Given the description of an element on the screen output the (x, y) to click on. 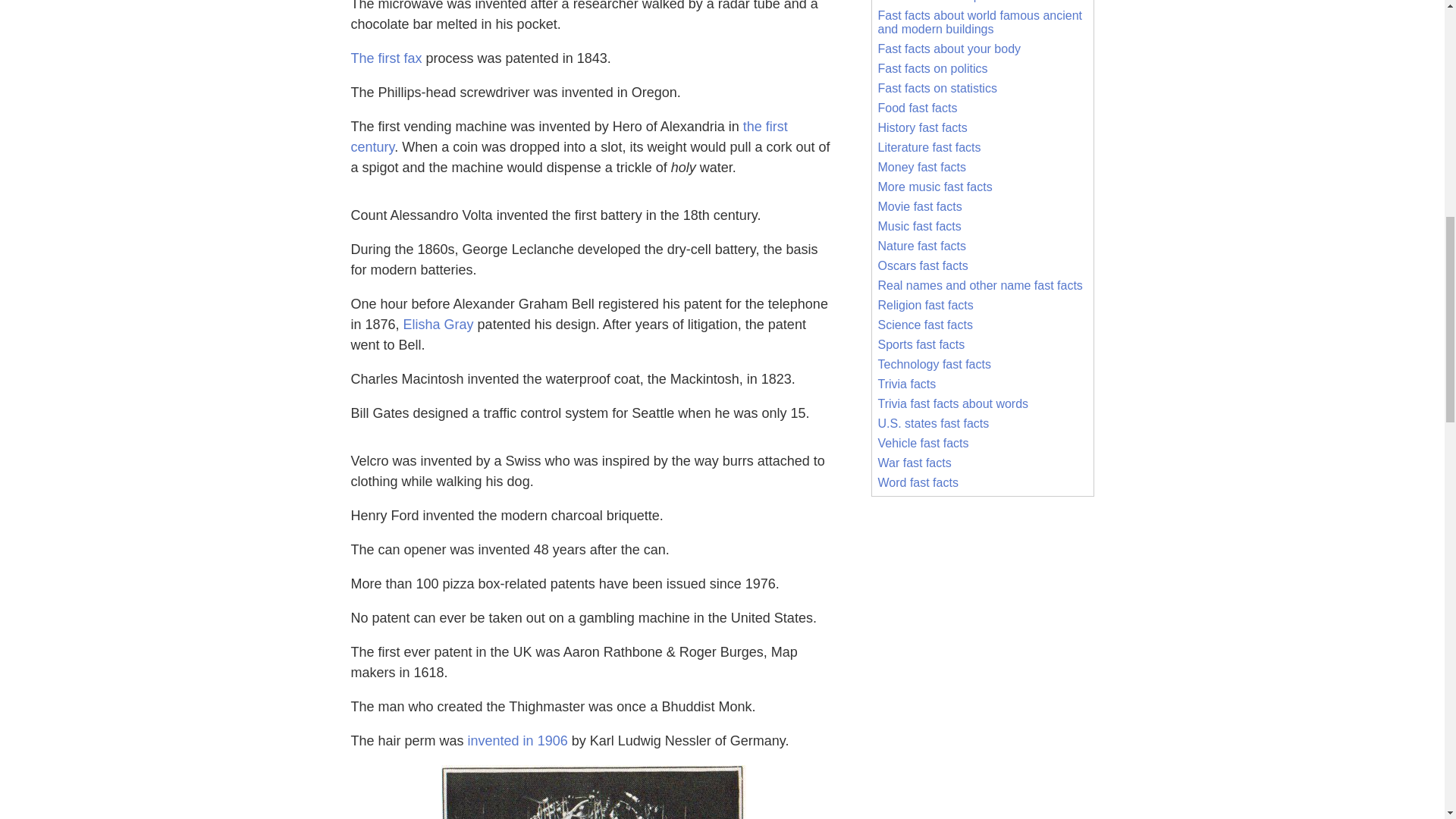
the first century (568, 136)
invented in 1906 (517, 740)
Elisha Gray (438, 324)
The first fax (386, 58)
